Given the description of an element on the screen output the (x, y) to click on. 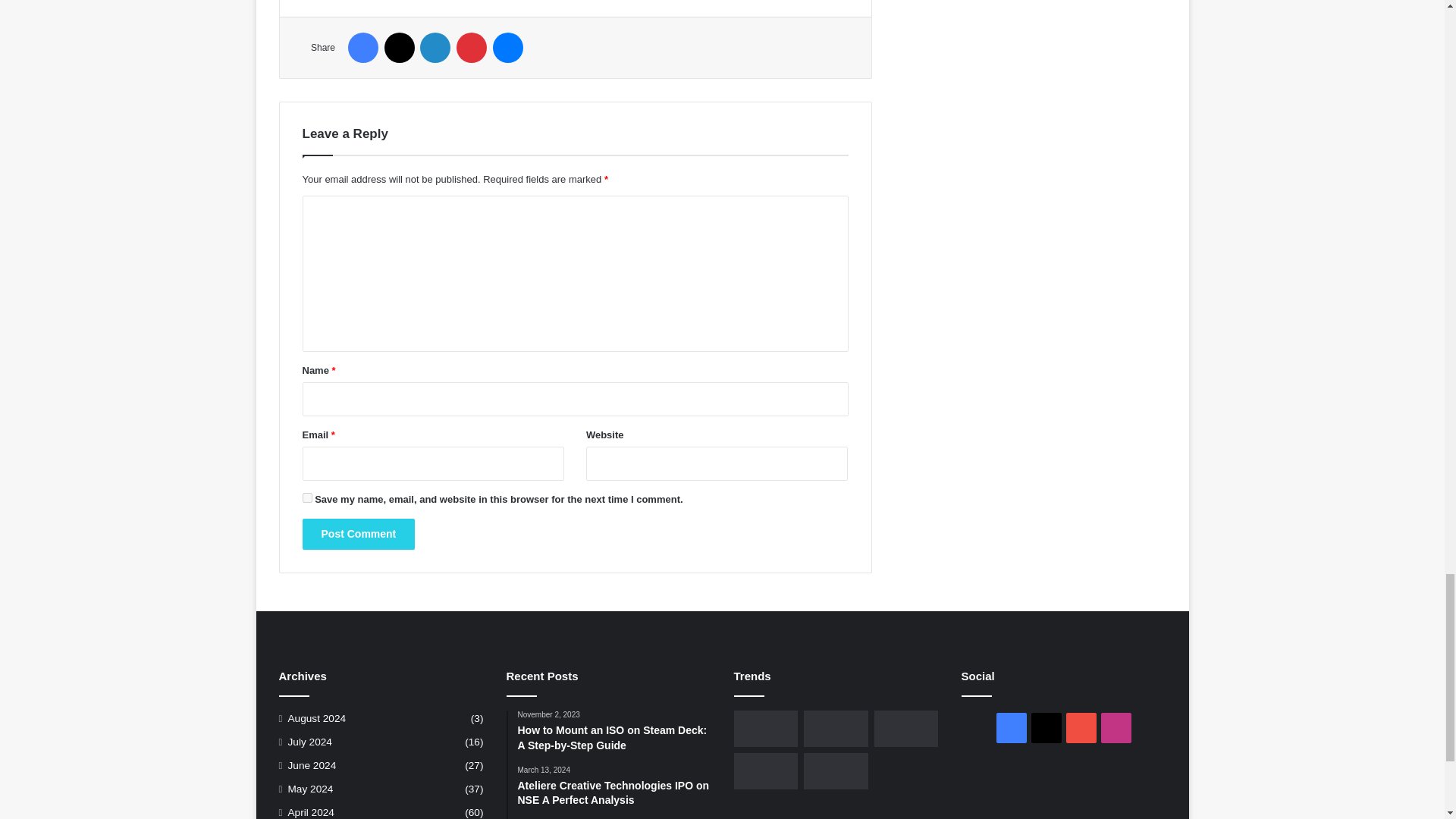
Pinterest (471, 47)
X (399, 47)
LinkedIn (434, 47)
yes (306, 497)
LinkedIn (434, 47)
Pinterest (471, 47)
Post Comment (357, 533)
Facebook (362, 47)
Post Comment (357, 533)
Facebook (362, 47)
